Given the description of an element on the screen output the (x, y) to click on. 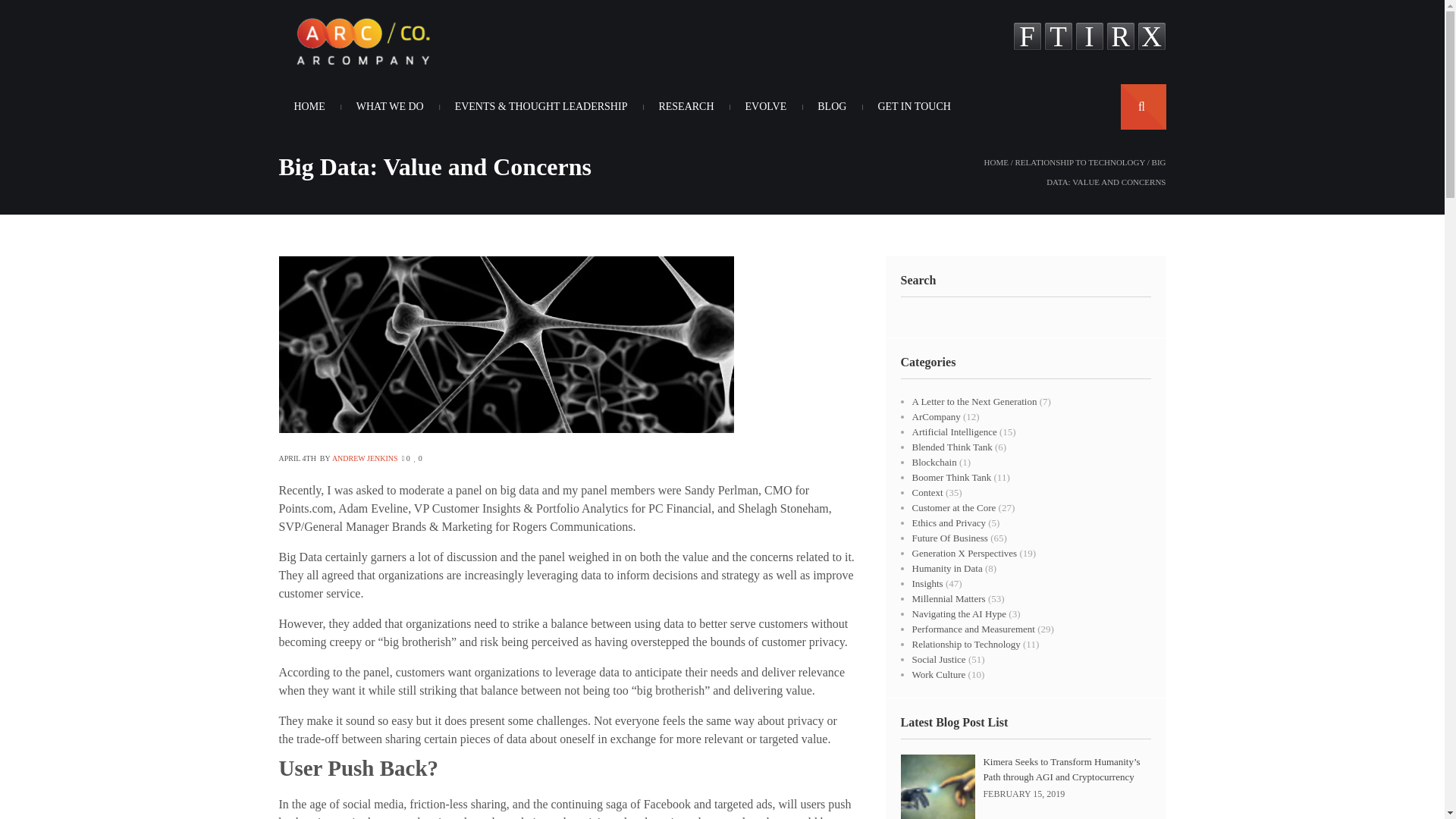
LinkedIn (1089, 37)
EVOLVE (766, 106)
HOME (309, 106)
Blog (831, 106)
RESEARCH (686, 106)
Twitter (1057, 37)
GET IN TOUCH (913, 106)
HOME (996, 162)
BLOG (831, 106)
Big Data: Value and Concerns (506, 428)
